Given the description of an element on the screen output the (x, y) to click on. 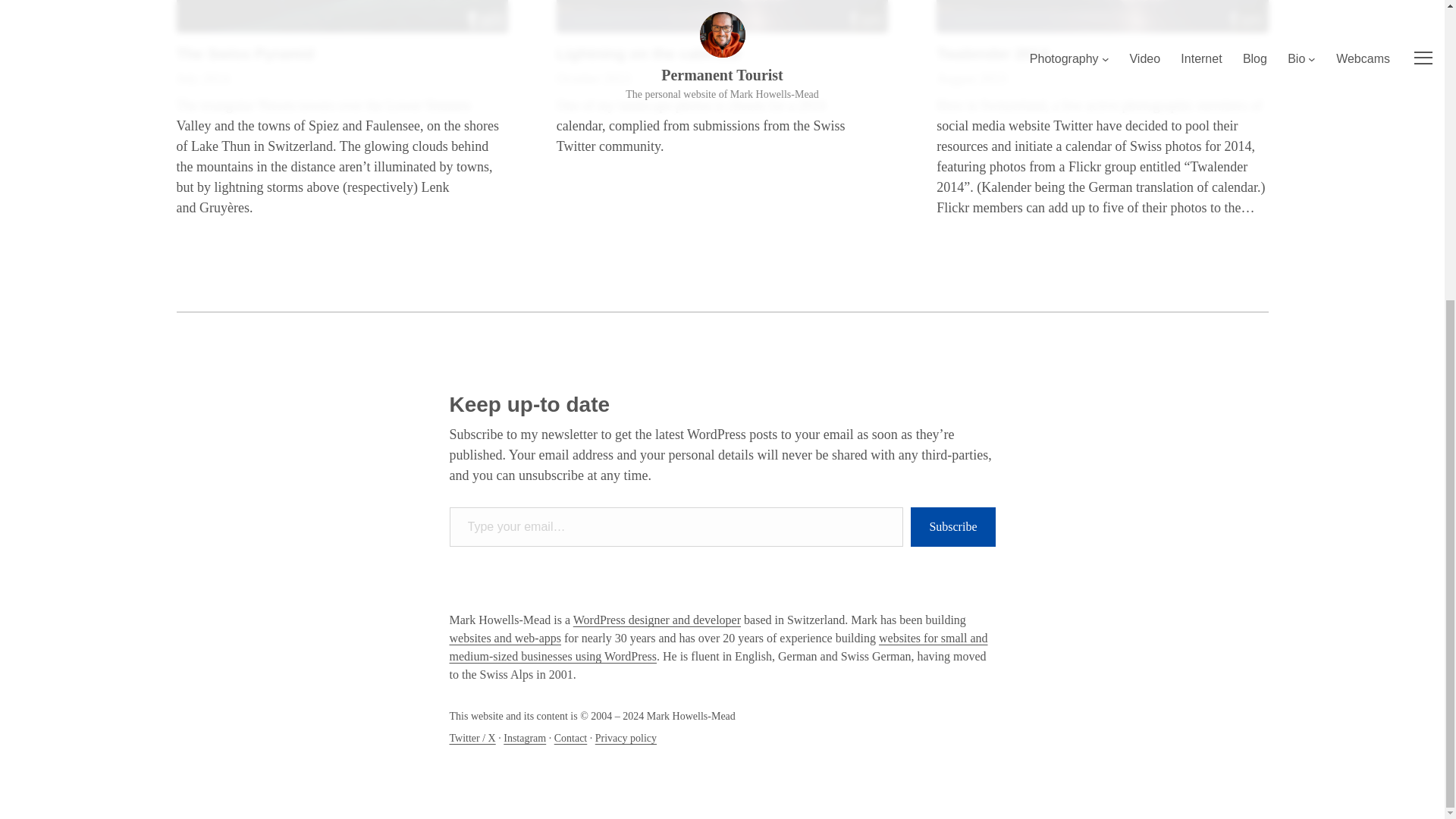
websites and web-apps (504, 637)
Article: Twalender 2014 (1102, 16)
Article: The Swiss Pyramid (341, 16)
Twalender 2014 (992, 54)
sayhello.ch (717, 646)
Lightning on the calendar (648, 54)
sayhello.ch (504, 637)
WordPress designer and developer (657, 619)
Please fill in this field. (675, 526)
Subscribe (952, 526)
